Given the description of an element on the screen output the (x, y) to click on. 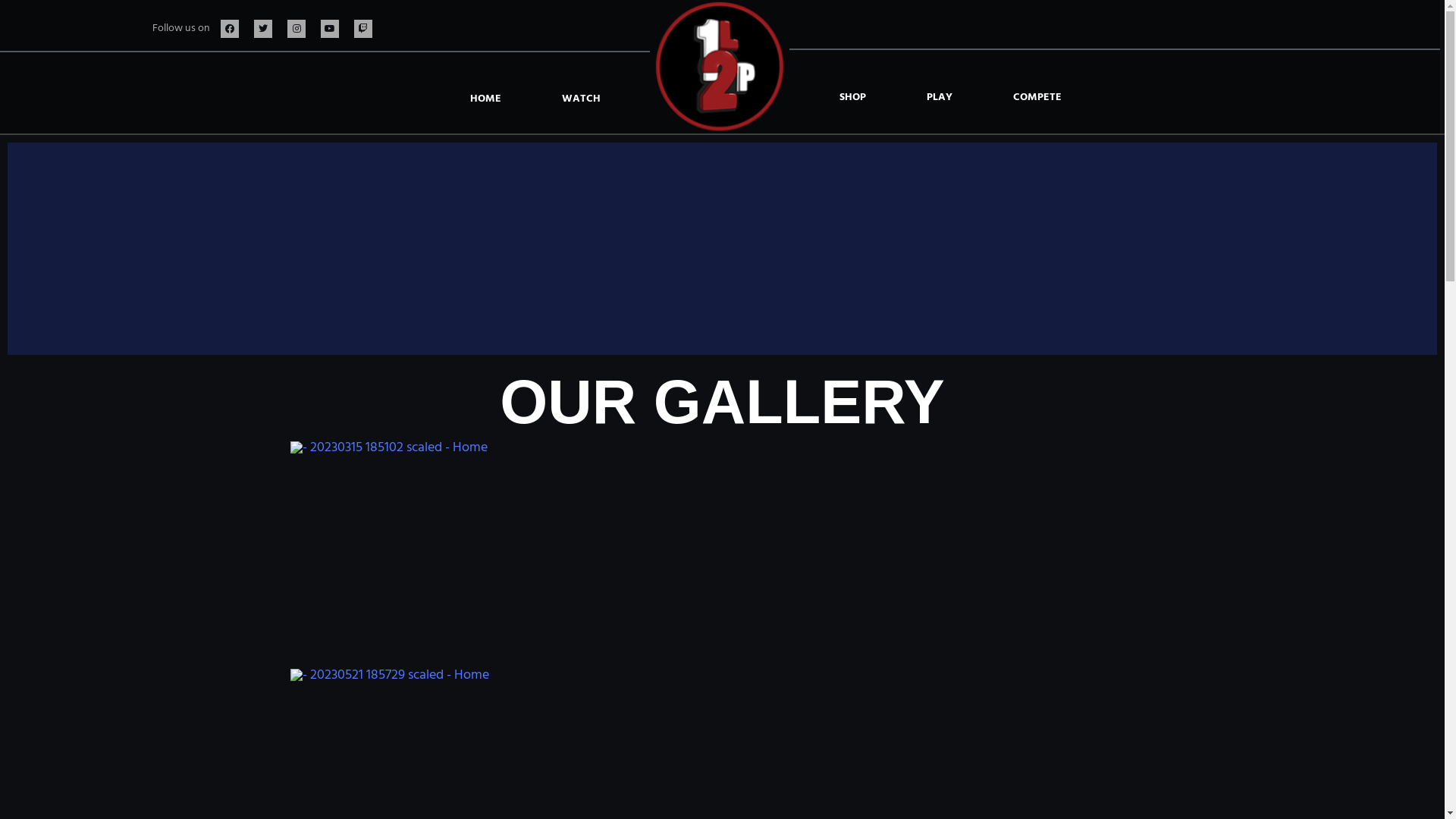
COMPETE Element type: text (1037, 97)
- 20230521 185729 scaled - Home - photo Element type: hover (388, 675)
WATCH Element type: text (580, 99)
SHOP Element type: text (852, 97)
- 20230315 185102 scaled - Home - photo Element type: hover (387, 448)
HOME Element type: text (485, 99)
PLAY Element type: text (939, 97)
